Given the description of an element on the screen output the (x, y) to click on. 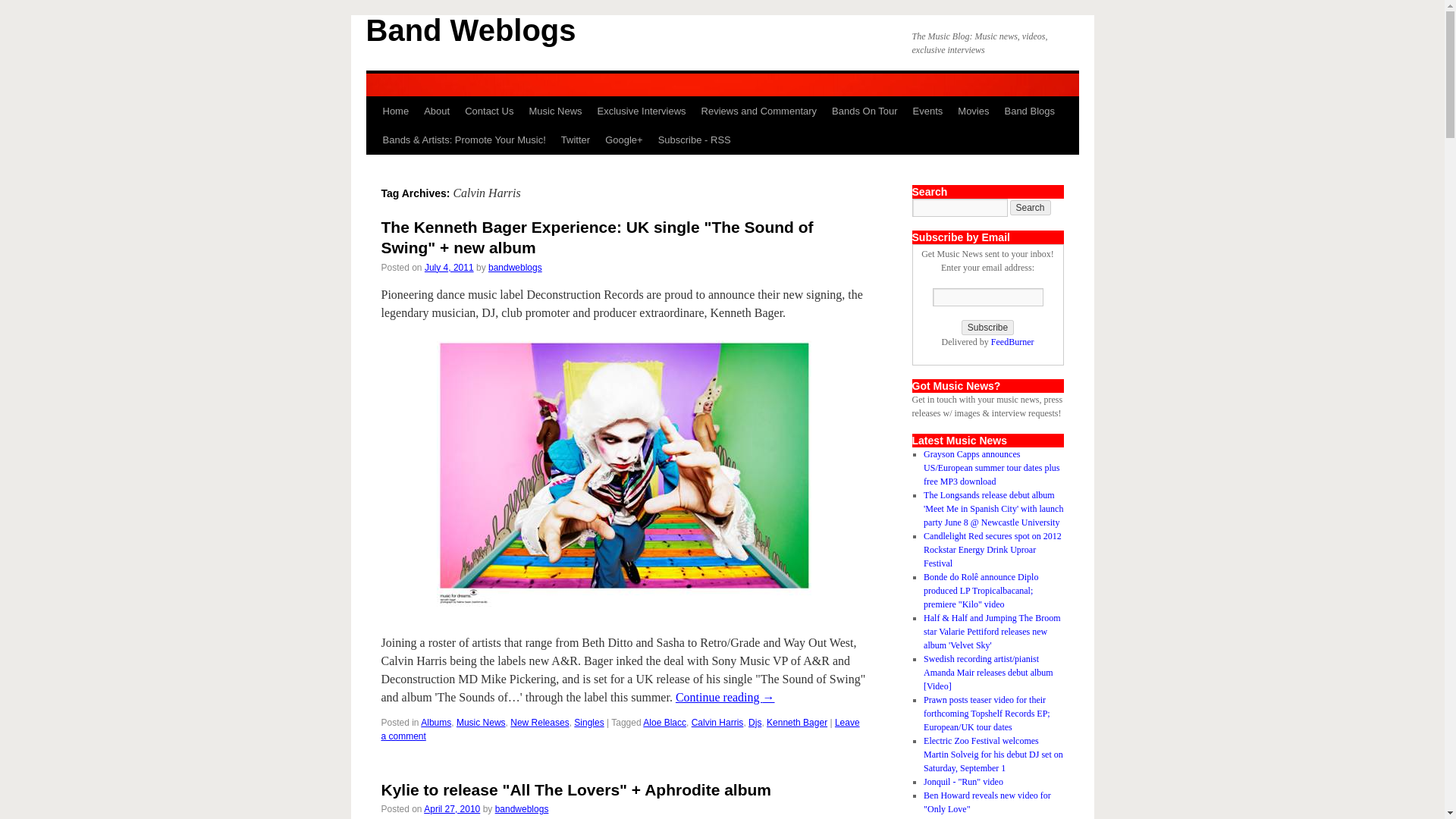
View all posts by bandweblogs (521, 808)
Home (395, 111)
Contact Us (489, 111)
Band Blogs (1028, 111)
View all posts in Singles (588, 722)
View all posts in Albums (435, 722)
Leave a comment (619, 729)
Subscribe (986, 327)
Bands On Tour (864, 111)
About (436, 111)
View all posts in New Releases (540, 722)
New Releases (540, 722)
Djs (754, 722)
July 4, 2011 (449, 267)
April 27, 2010 (451, 808)
